Given the description of an element on the screen output the (x, y) to click on. 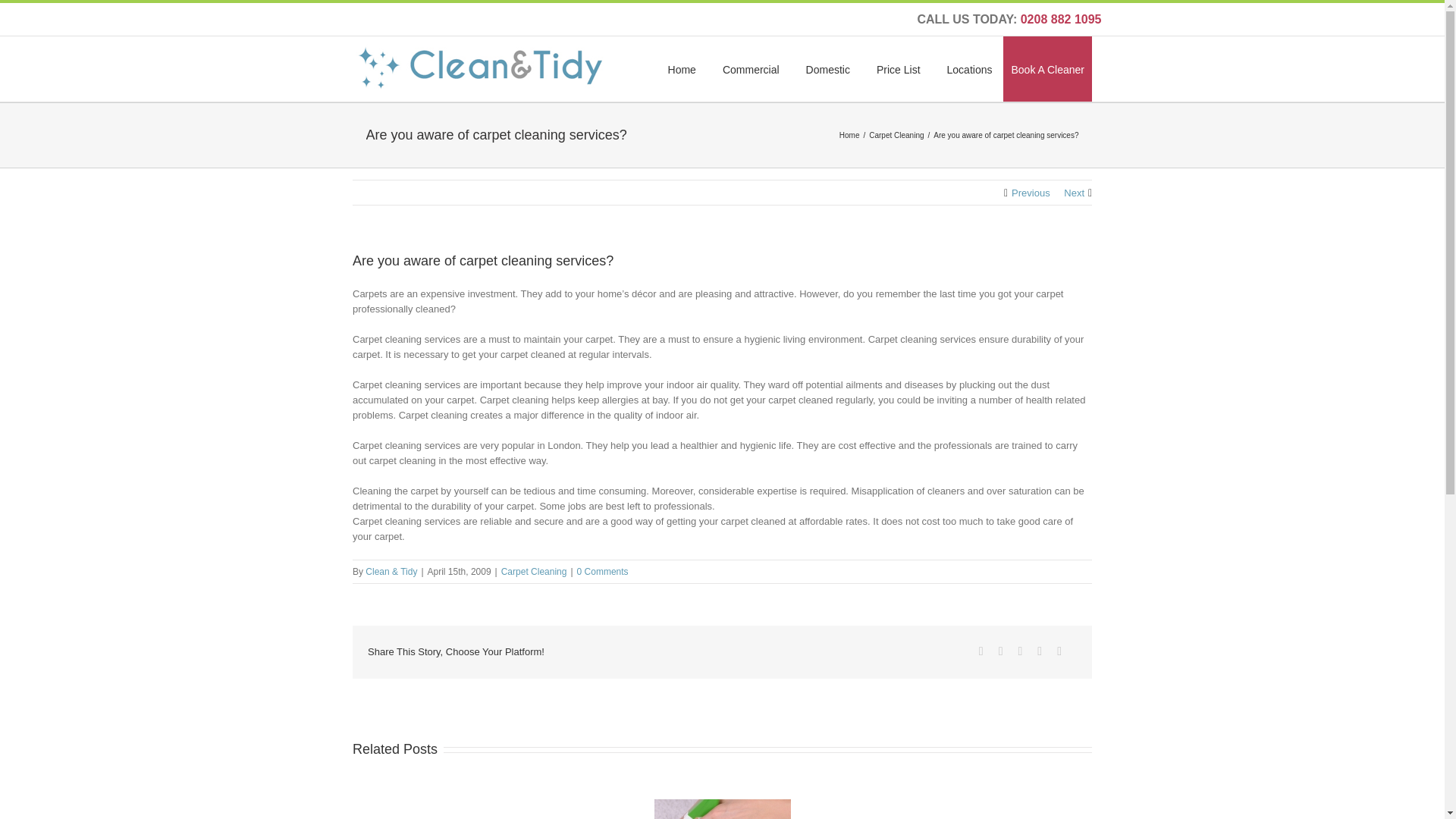
Carpet Cleaning (898, 134)
Book A Cleaner (1047, 68)
